Given the description of an element on the screen output the (x, y) to click on. 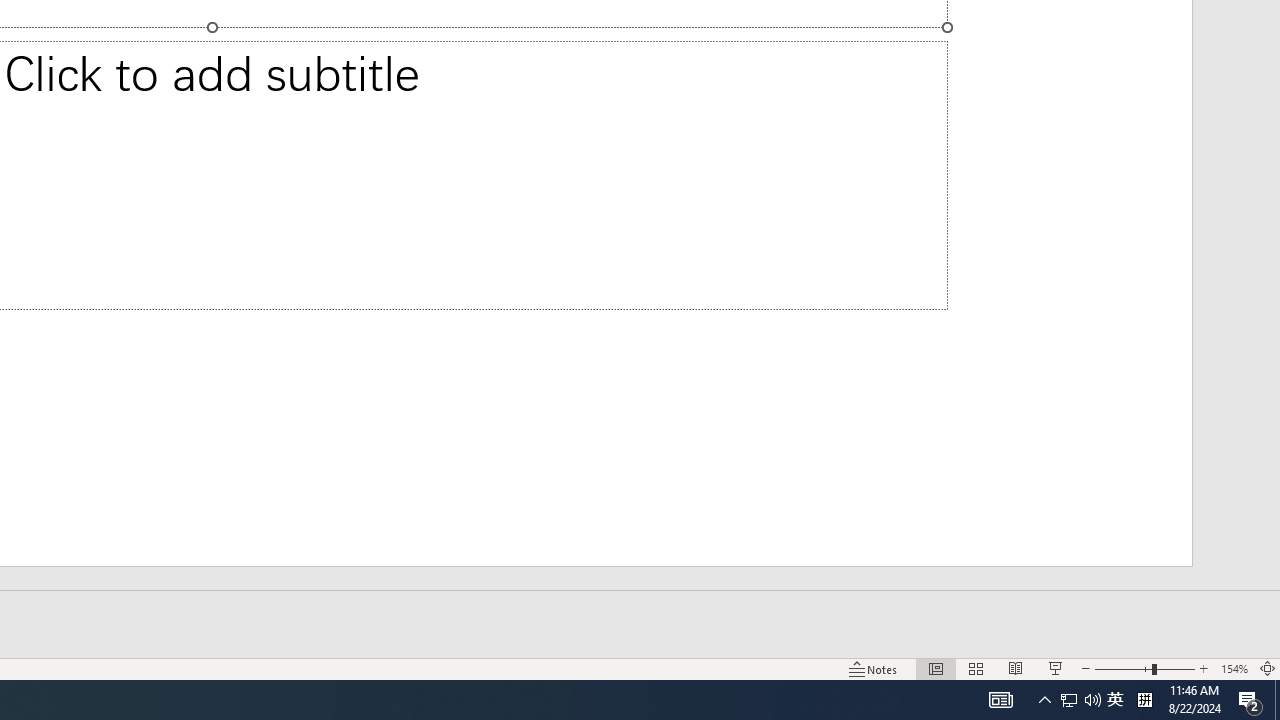
Normal (936, 668)
Slide Show (1055, 668)
Reading View (1015, 668)
Zoom Out (1123, 668)
Notes  (874, 668)
Zoom (1144, 668)
Zoom In (1204, 668)
Zoom to Fit  (1267, 668)
Slide Sorter (975, 668)
Zoom 154% (1234, 668)
